Given the description of an element on the screen output the (x, y) to click on. 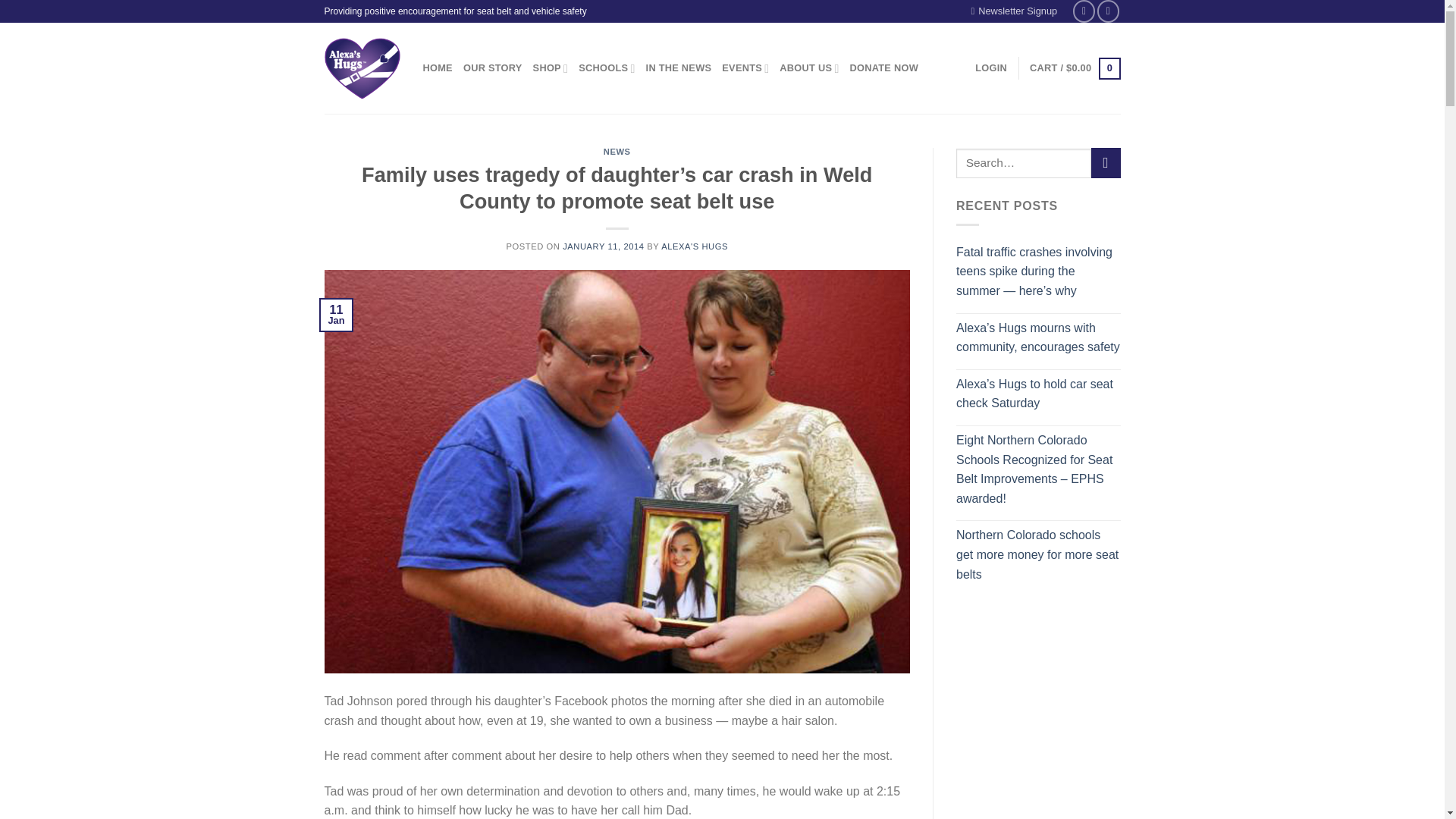
SCHOOLS (606, 68)
Follow on Facebook (1083, 11)
OUR STORY (492, 68)
IN THE NEWS (678, 68)
Cart (1074, 68)
SHOP (550, 68)
Newsletter Signup (1014, 11)
Follow on Twitter (1108, 11)
EVENTS (745, 68)
HOME (437, 68)
